Given the description of an element on the screen output the (x, y) to click on. 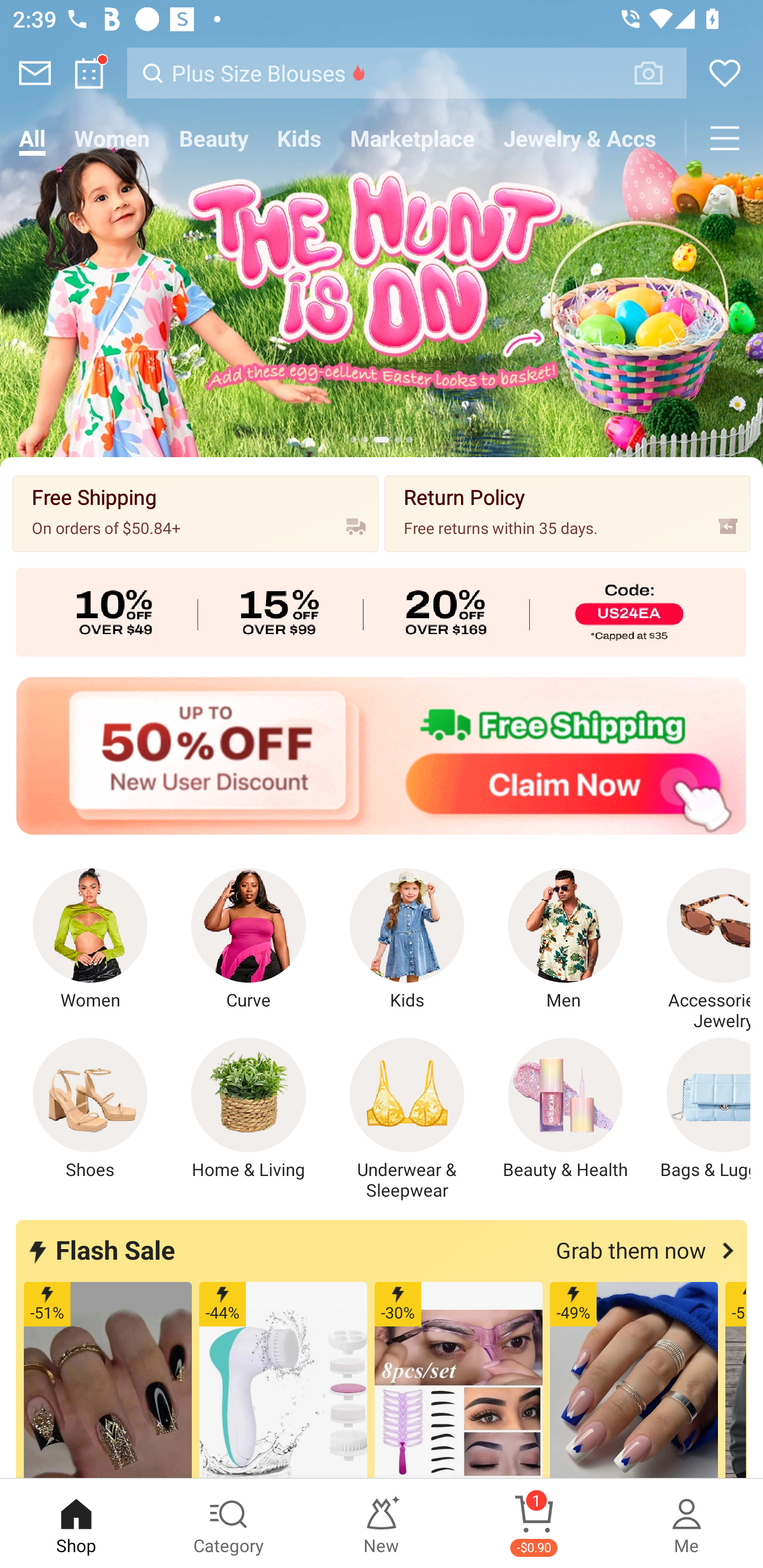
Wishlist (724, 72)
VISUAL SEARCH (657, 72)
All (31, 137)
Women (111, 137)
Beauty (213, 137)
Kids (298, 137)
Marketplace (412, 137)
Jewelry & Accs (580, 137)
Free Shipping On orders of $50.84+ (195, 513)
Return Policy Free returns within 35 days. (567, 513)
Women (89, 939)
Curve (248, 939)
Kids (406, 939)
Men  (565, 939)
Accessories & Jewelry (698, 949)
Shoes (89, 1109)
Home & Living (248, 1109)
Underwear & Sleepwear (406, 1119)
Beauty & Health (565, 1109)
Bags & Luggage (698, 1109)
Category (228, 1523)
New (381, 1523)
Cart 1 -$0.90 (533, 1523)
Me (686, 1523)
